Given the description of an element on the screen output the (x, y) to click on. 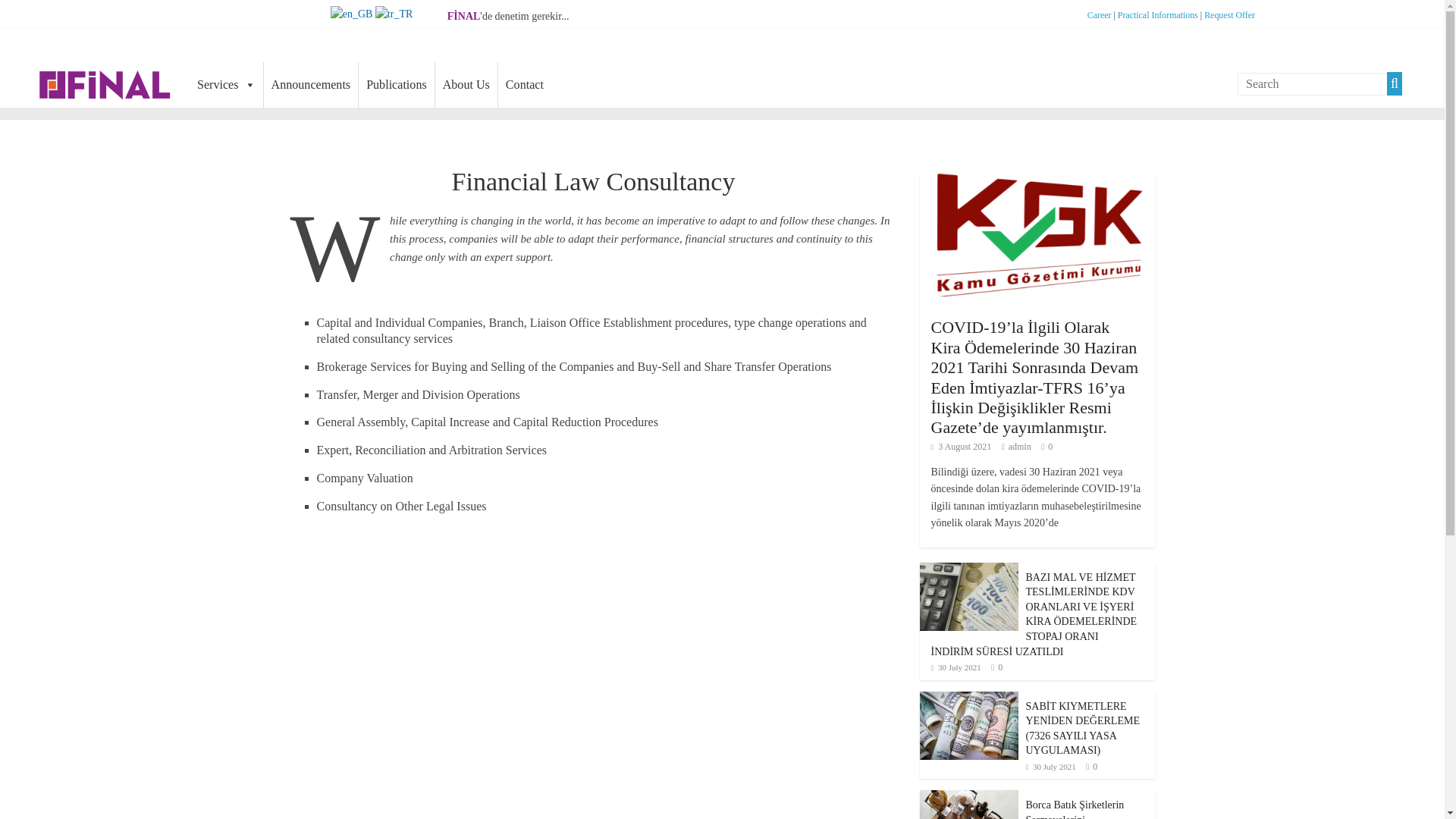
Career (1099, 14)
15:24 (956, 666)
admin (1019, 446)
Request Offer (1229, 14)
Practical Informations (1158, 14)
11:55 (961, 446)
